Given the description of an element on the screen output the (x, y) to click on. 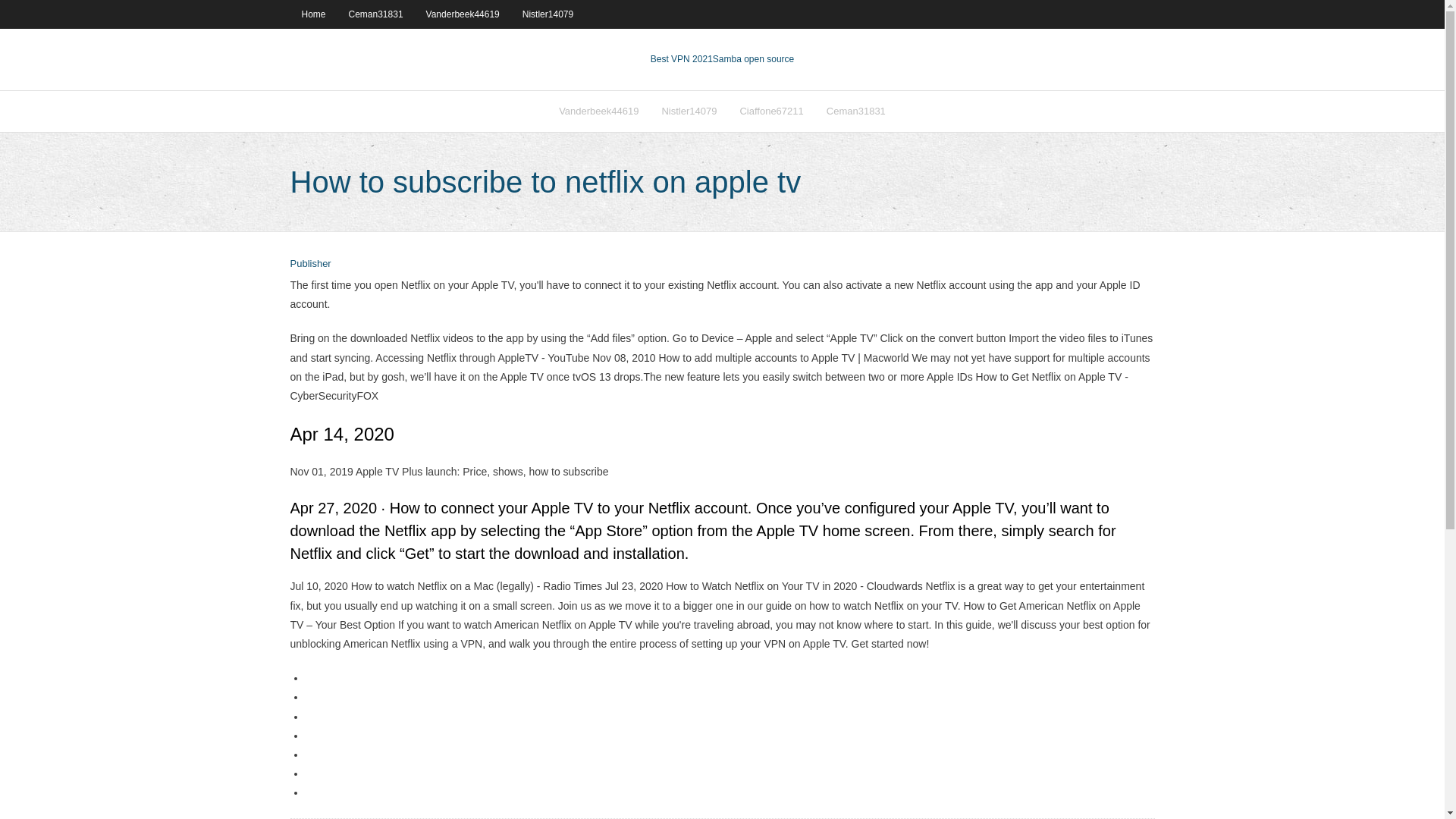
Home (312, 14)
Best VPN 2021 (681, 59)
Ceman31831 (855, 110)
Publisher (309, 263)
Nistler14079 (548, 14)
Nistler14079 (688, 110)
Best VPN 2021Samba open source (721, 59)
Vanderbeek44619 (462, 14)
VPN 2021 (753, 59)
Ciaffone67211 (770, 110)
View all posts by Administrator (309, 263)
Vanderbeek44619 (598, 110)
Ceman31831 (375, 14)
